Given the description of an element on the screen output the (x, y) to click on. 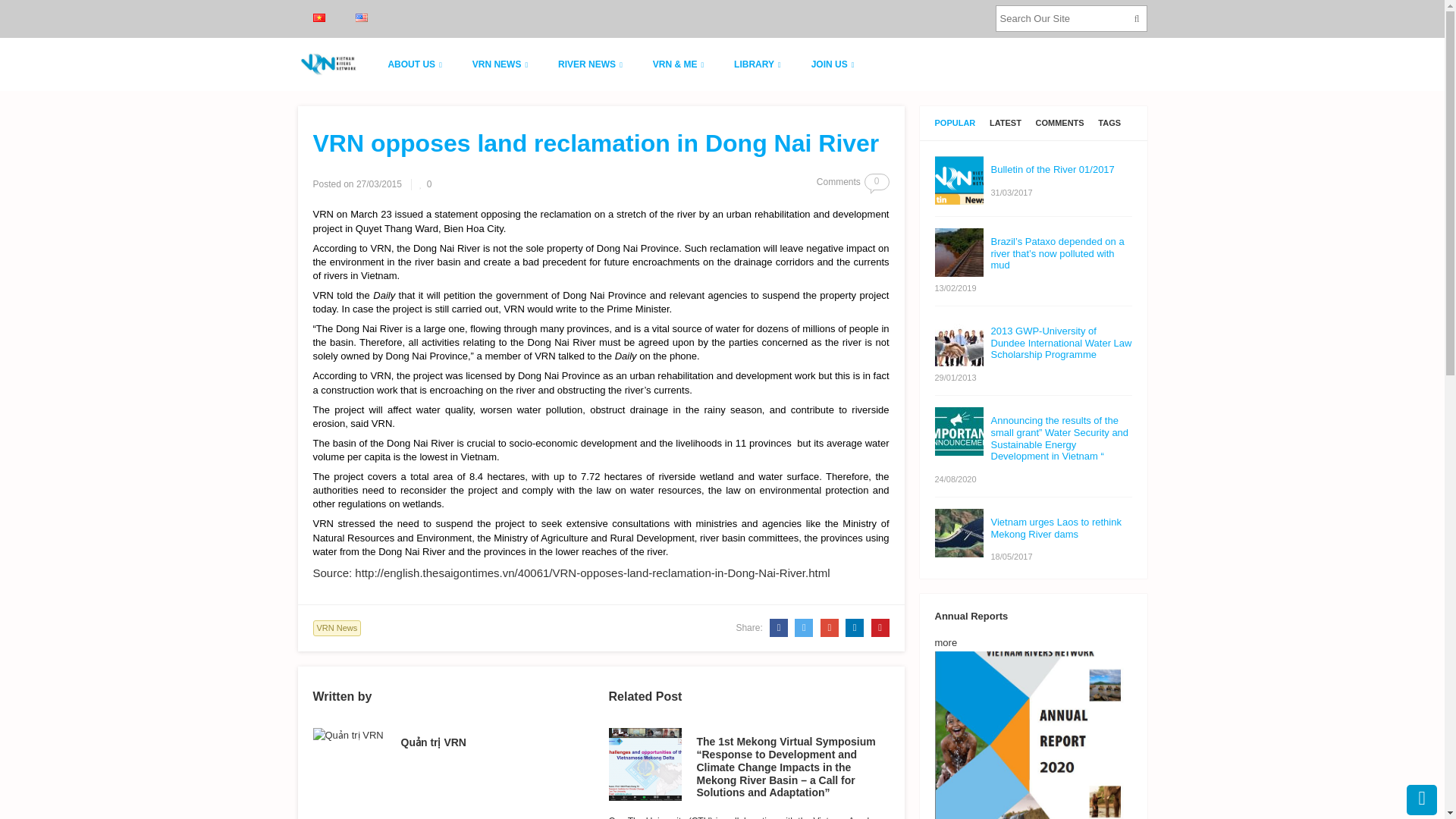
Tags (1109, 122)
Popular (954, 122)
Comments (1059, 122)
Latest (1006, 122)
English (360, 17)
Like this (424, 184)
